Given the description of an element on the screen output the (x, y) to click on. 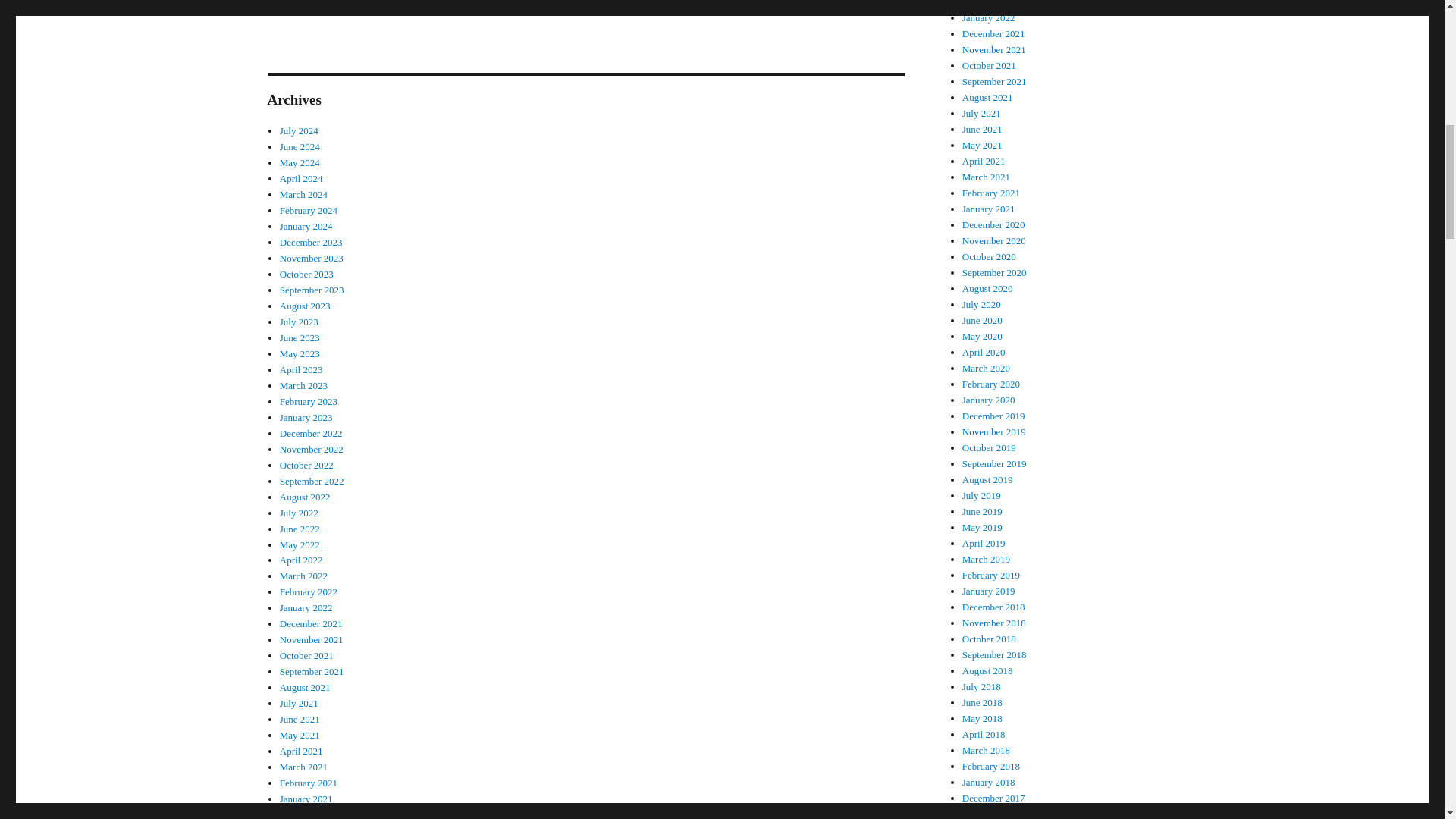
December 2023 (310, 242)
June 2023 (299, 337)
May 2022 (299, 543)
December 2022 (310, 432)
May 2024 (299, 162)
November 2021 (311, 639)
February 2024 (308, 210)
March 2022 (303, 575)
March 2023 (303, 385)
November 2022 (311, 449)
